Given the description of an element on the screen output the (x, y) to click on. 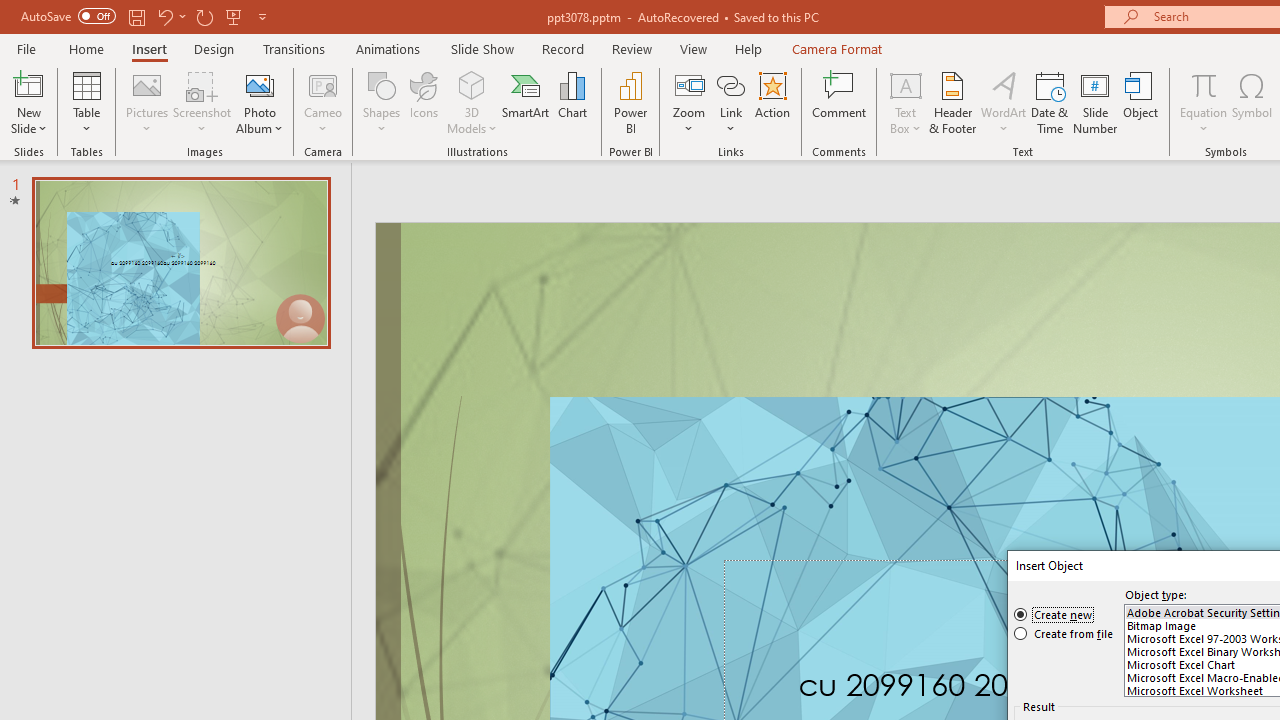
Object... (1141, 102)
Table (86, 102)
Pictures (147, 102)
Draw Horizontal Text Box (905, 84)
Slide Number (1095, 102)
Screenshot (202, 102)
Equation (1203, 84)
